Given the description of an element on the screen output the (x, y) to click on. 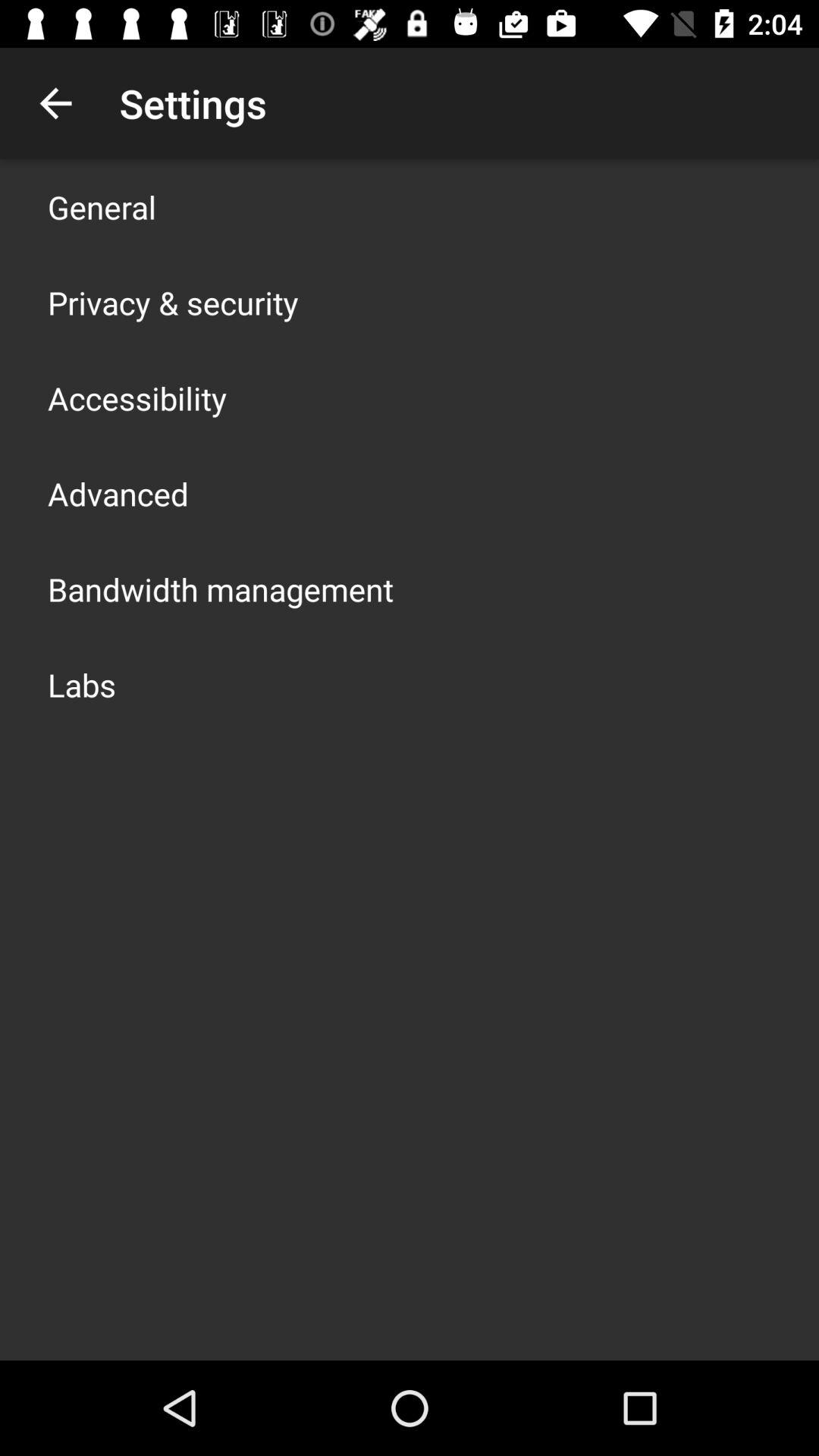
click the app above general (55, 103)
